Given the description of an element on the screen output the (x, y) to click on. 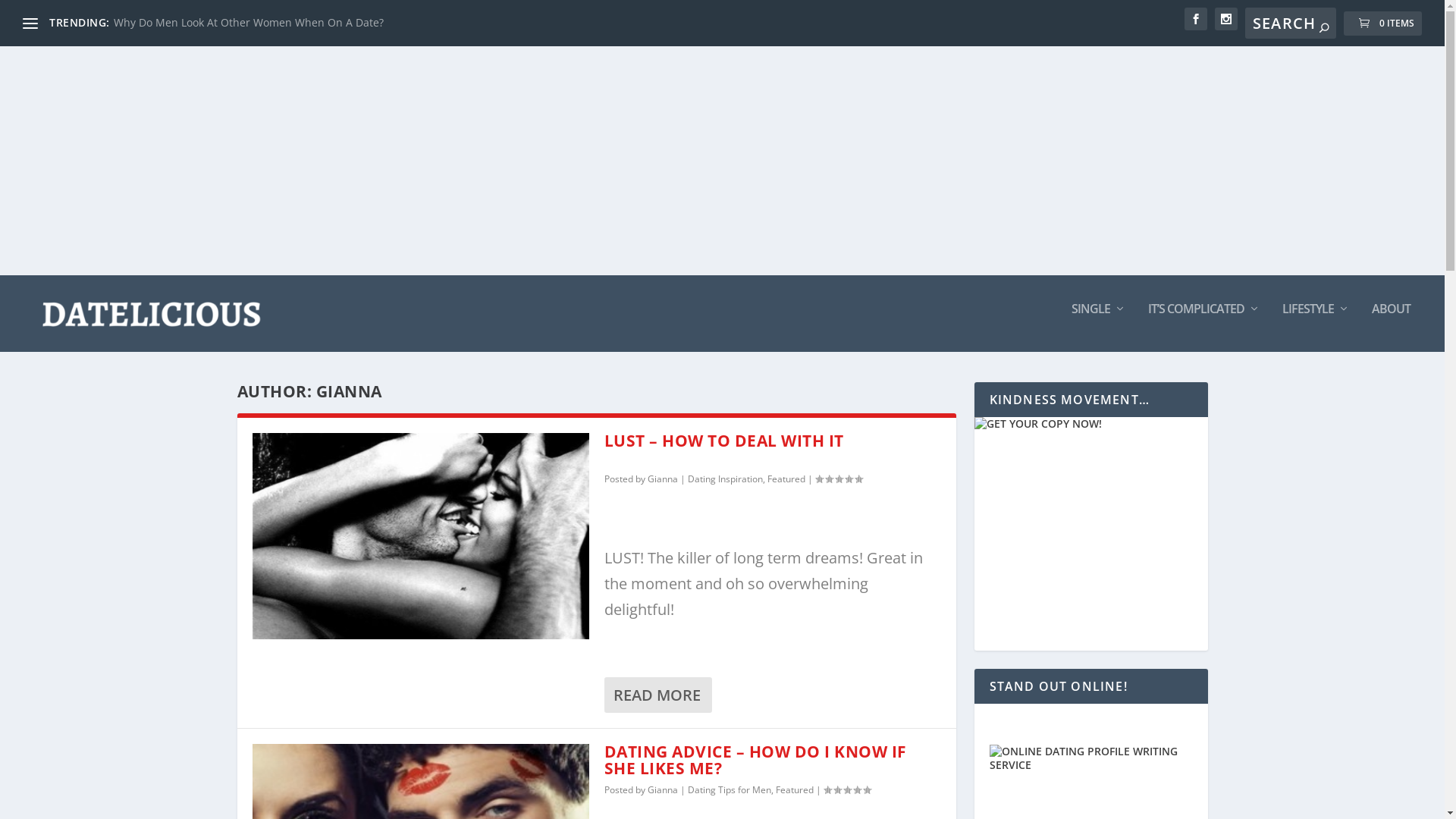
Gianna Element type: text (662, 478)
Top 10 Reasons Why A Woman Loses Interest Element type: text (228, 22)
Featured Element type: text (786, 478)
LIFESTYLE Element type: text (1315, 326)
Search for: Element type: hover (1290, 22)
ABOUT Element type: text (1390, 326)
READ MORE Element type: text (657, 694)
Rating: 0.00 Element type: hover (837, 478)
Dating Tips for Men Element type: text (728, 789)
0 ITEMS Element type: text (1382, 23)
Rating: 0.00 Element type: hover (846, 789)
Featured Element type: text (793, 789)
SINGLE Element type: text (1098, 326)
Dating Inspiration Element type: text (724, 478)
Gianna Element type: text (662, 789)
Advertisement Element type: hover (721, 160)
